Given the description of an element on the screen output the (x, y) to click on. 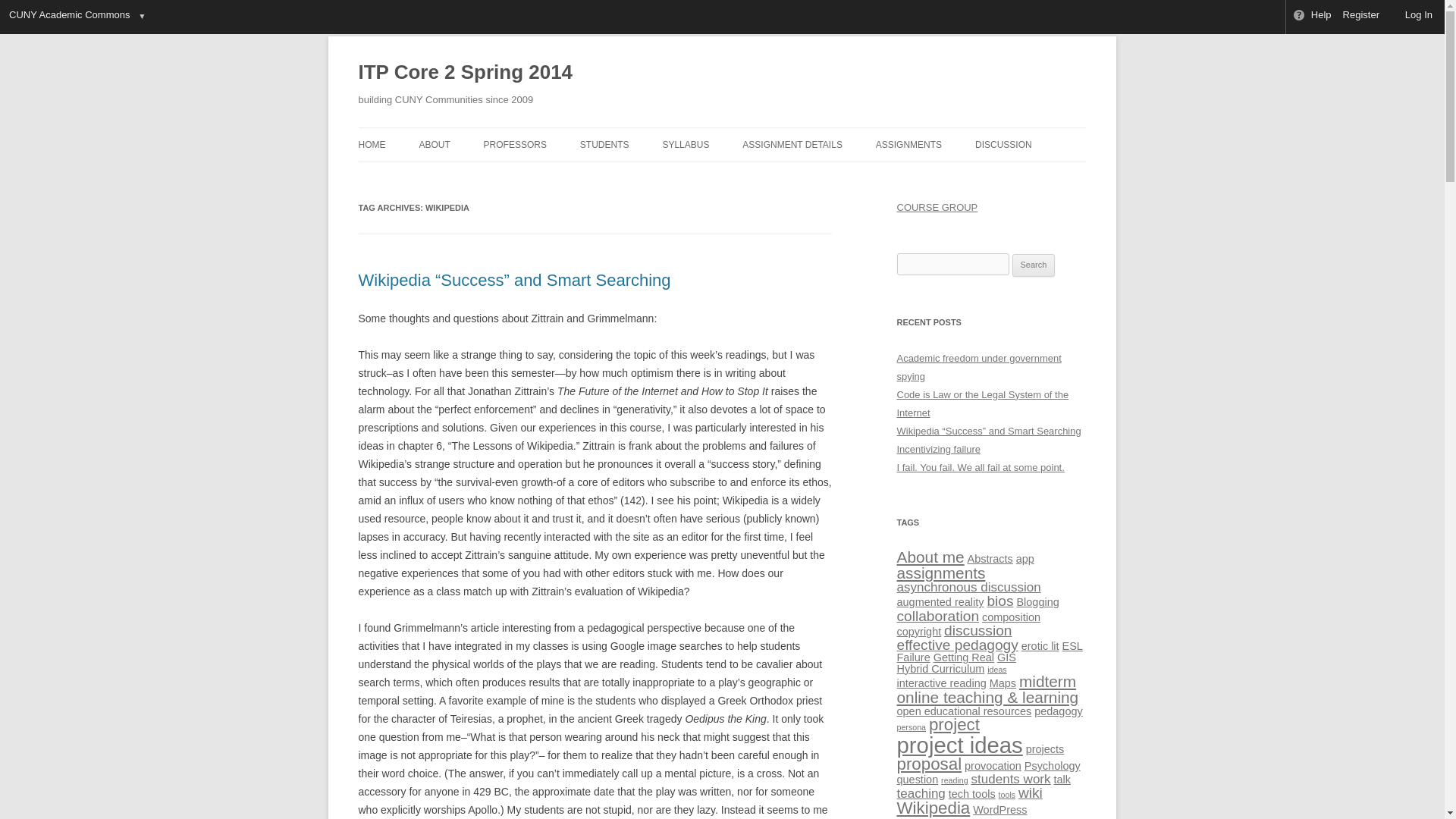
STUDENTS (603, 144)
DISCUSSION (1003, 144)
Log In (1412, 17)
PROFESSORS (515, 144)
ASSIGNMENT DETAILS (792, 144)
ASSIGNMENTS (909, 144)
Register (1362, 17)
Help (1311, 17)
CUNY Academic Commons (68, 17)
ITP Core 2 Spring 2014 (465, 72)
SYLLABUS (685, 144)
ABOUT (434, 144)
Search (1033, 264)
